Given the description of an element on the screen output the (x, y) to click on. 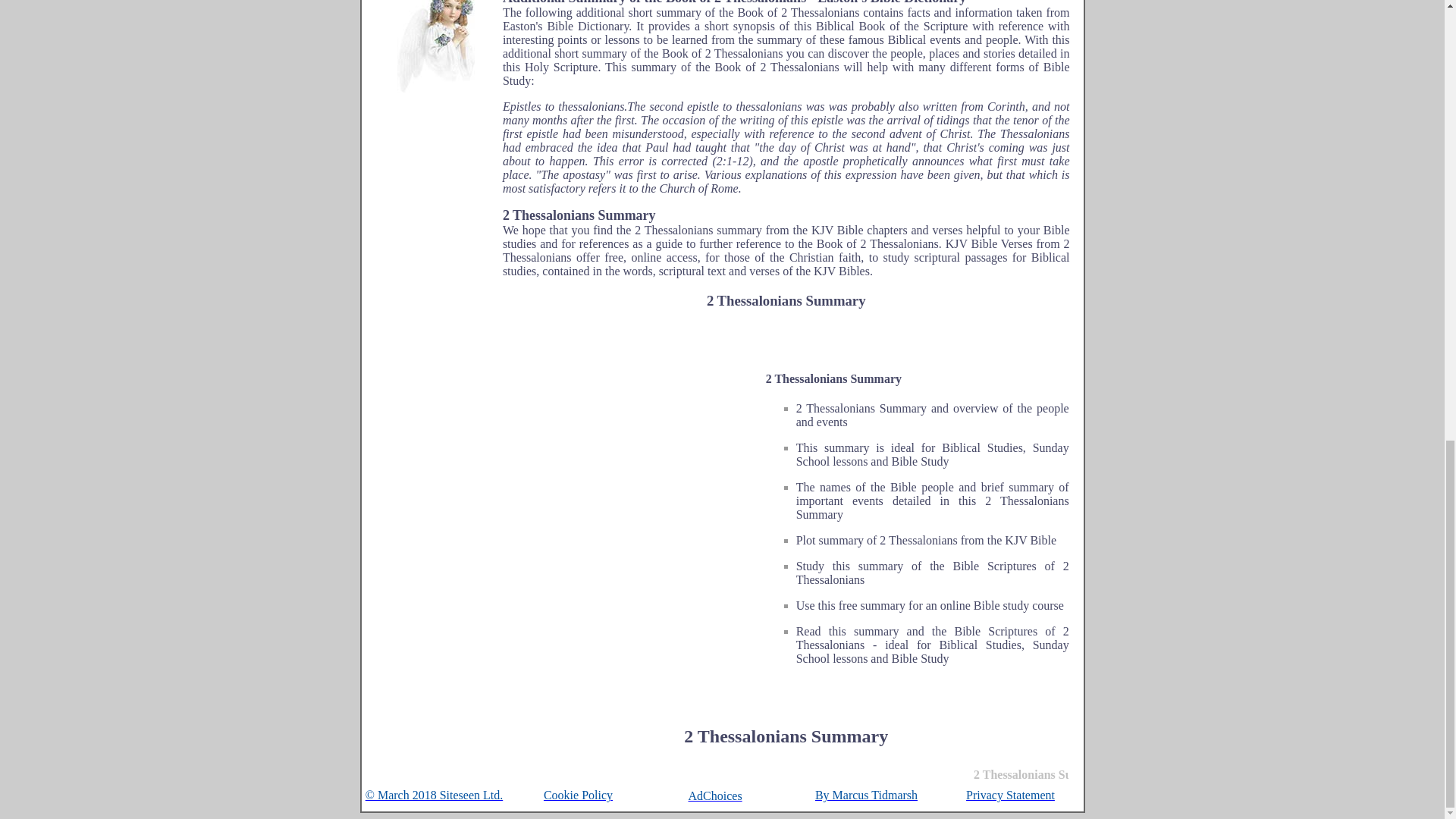
By Marcus Tidmarsh (866, 794)
Cookie Policy (577, 794)
Privacy Statement (1010, 794)
AdChoices (722, 796)
